Given the description of an element on the screen output the (x, y) to click on. 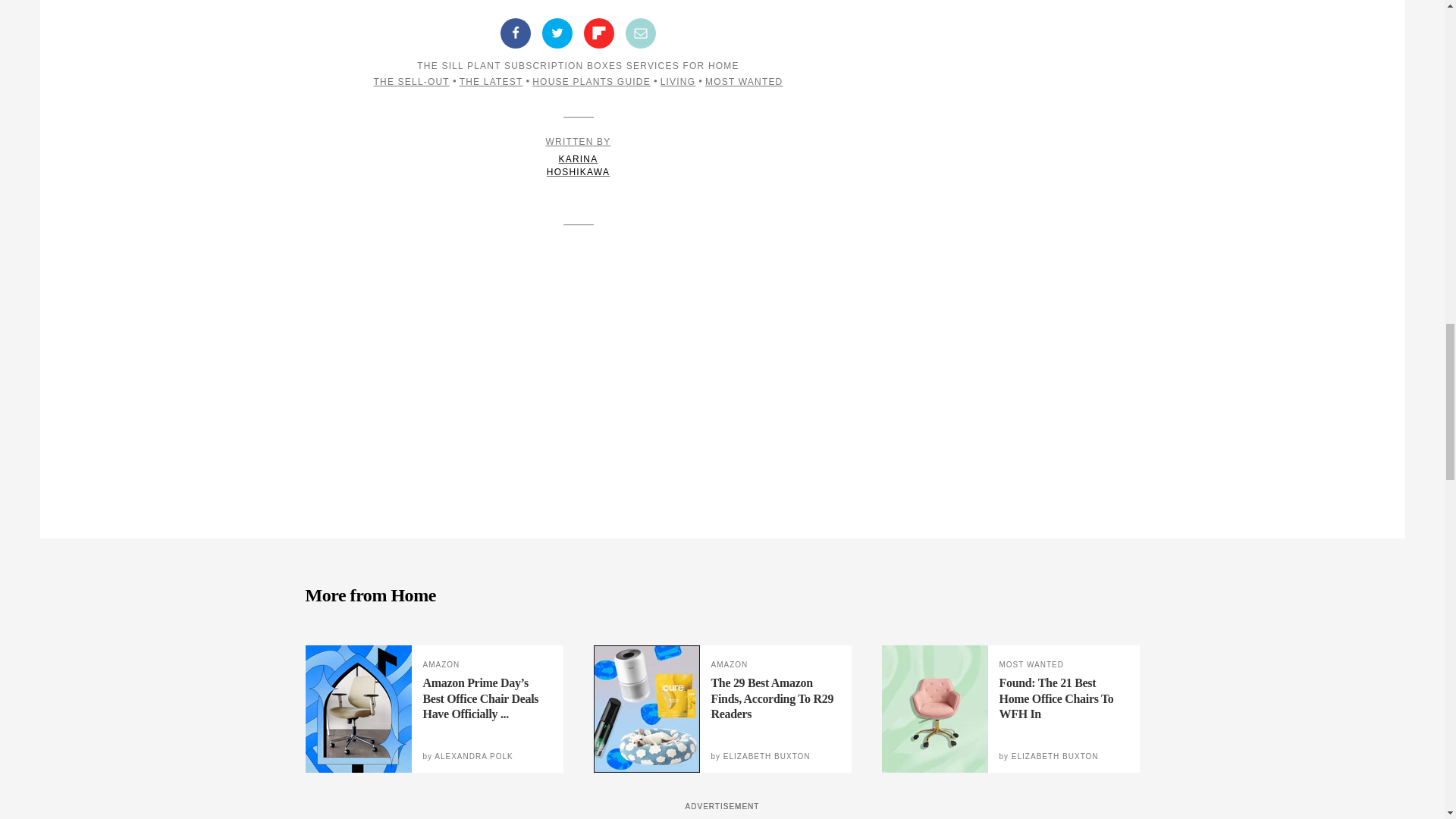
Share by Email (641, 33)
Share on Twitter (556, 33)
Share on Facebook (515, 33)
Share on Flipboard (598, 33)
